Given the description of an element on the screen output the (x, y) to click on. 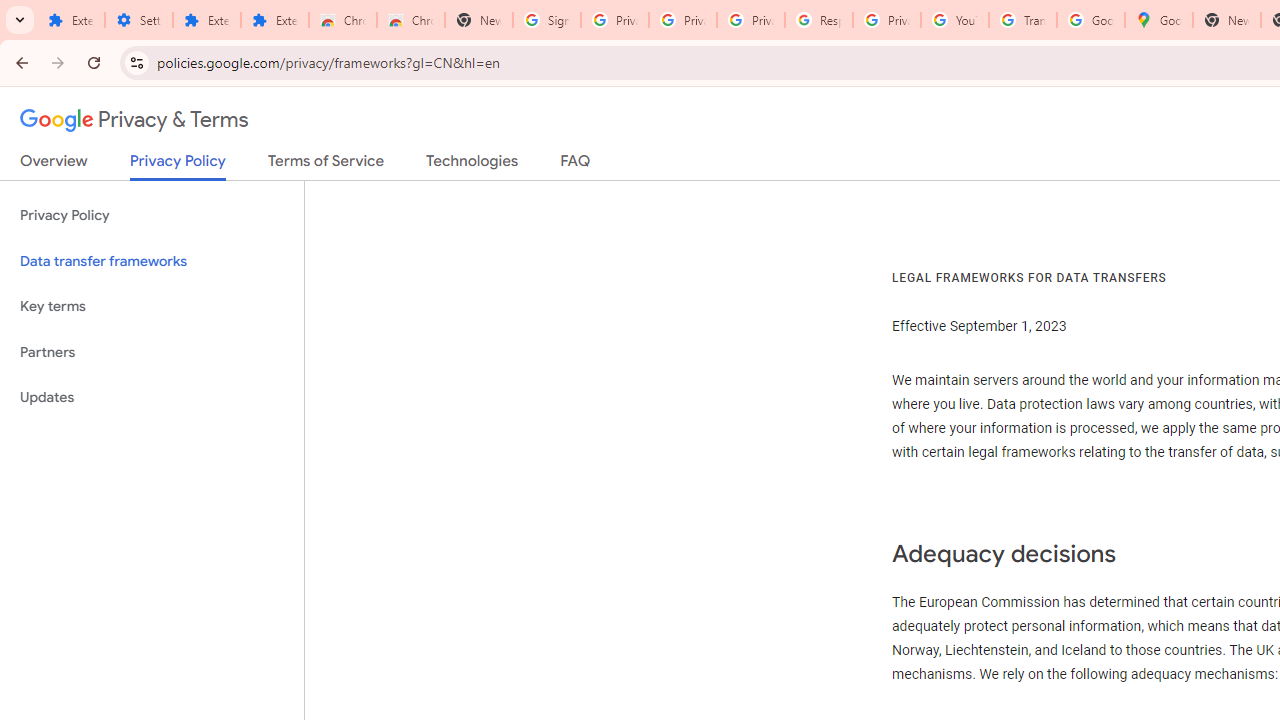
New Tab (1226, 20)
